Given the description of an element on the screen output the (x, y) to click on. 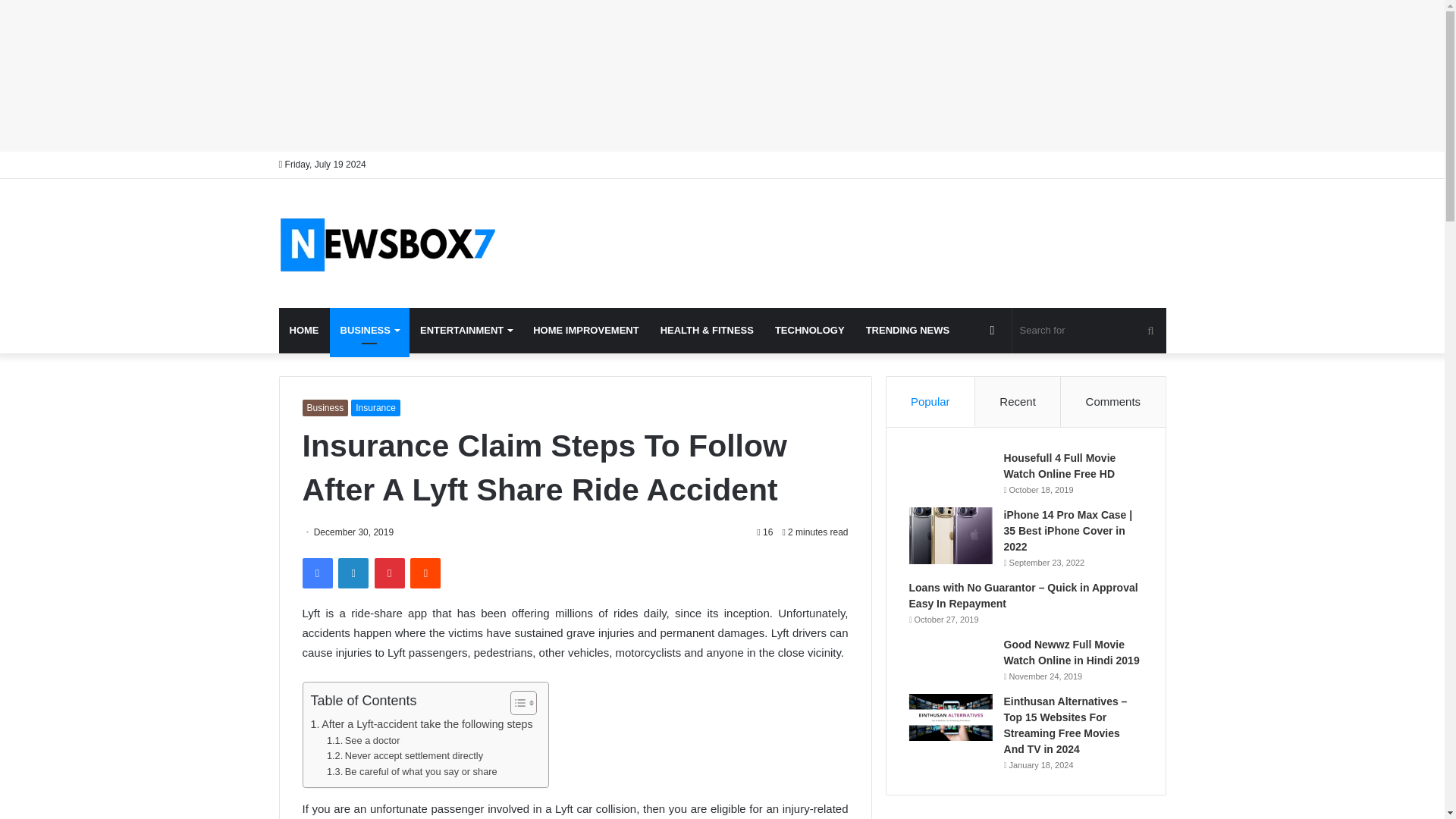
Search for (1088, 329)
Business (324, 407)
Reddit (425, 572)
After a Lyft-accident take the following steps (421, 724)
LinkedIn (352, 572)
TECHNOLOGY (810, 329)
Facebook (316, 572)
TRENDING NEWS (908, 329)
ENTERTAINMENT (465, 329)
Never accept settlement directly (404, 756)
Be careful of what you say or share (411, 772)
See a doctor (363, 741)
BUSINESS (369, 329)
Facebook (316, 572)
